Given the description of an element on the screen output the (x, y) to click on. 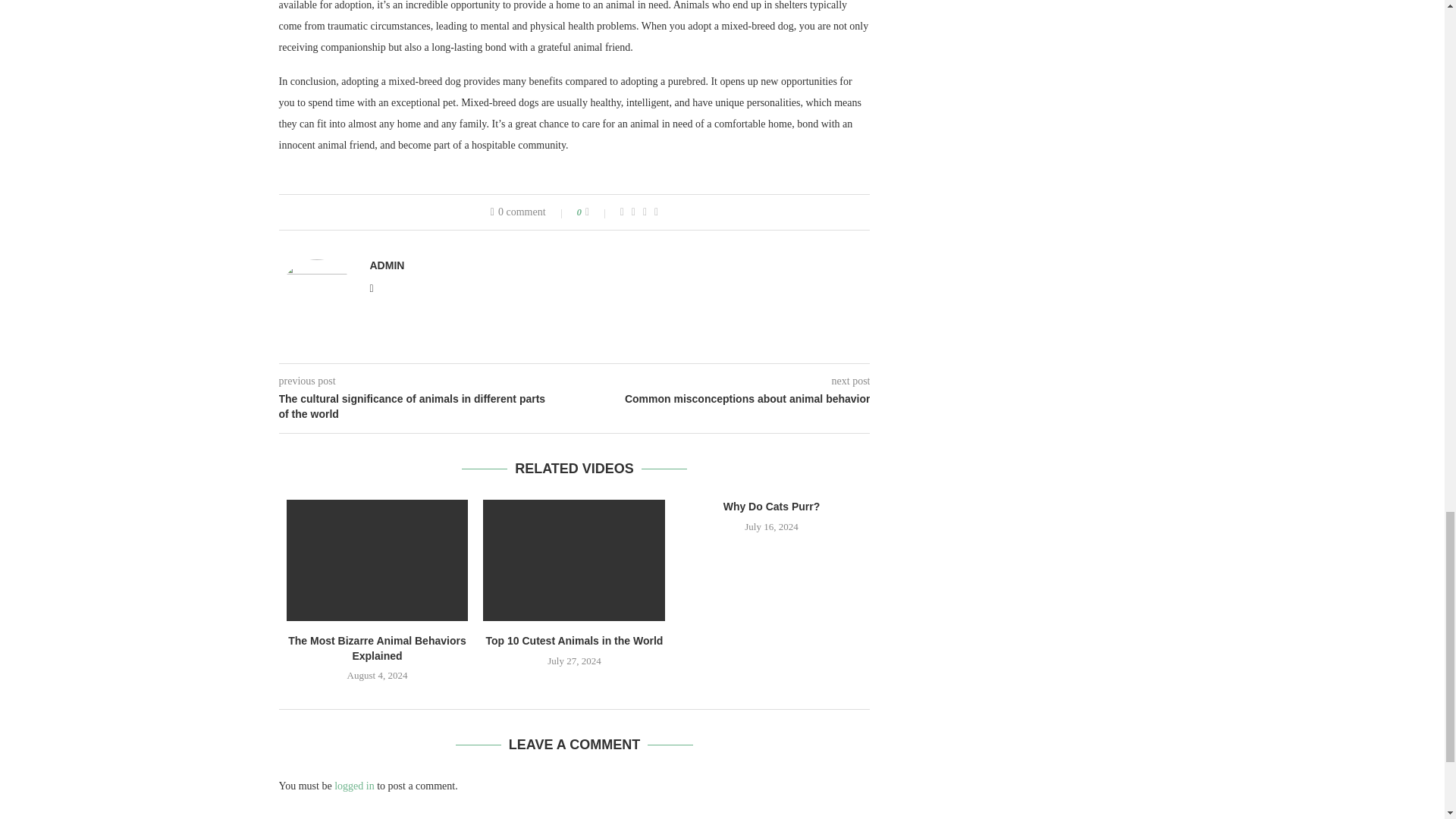
ADMIN (386, 265)
Top 10 Cutest Animals in the World (574, 559)
Like (597, 212)
Author admin (386, 265)
The Most Bizarre Animal Behaviors Explained (377, 559)
